Given the description of an element on the screen output the (x, y) to click on. 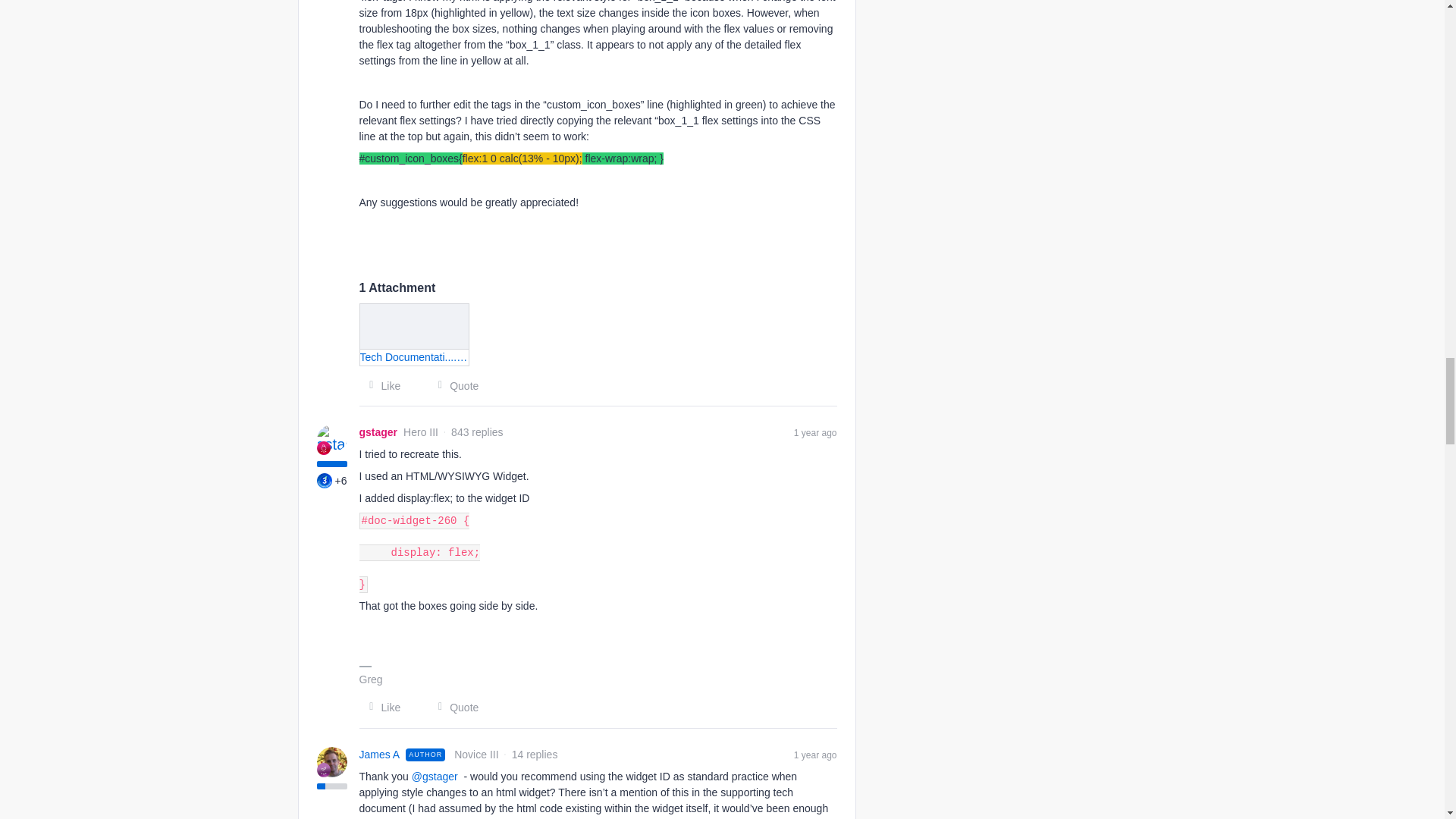
Like (380, 385)
Hero III (323, 448)
Quote (453, 385)
Community 3rd Birthday (324, 480)
gstager (378, 432)
Tech Documentati... (414, 334)
James A (379, 754)
Novice III (323, 769)
